Given the description of an element on the screen output the (x, y) to click on. 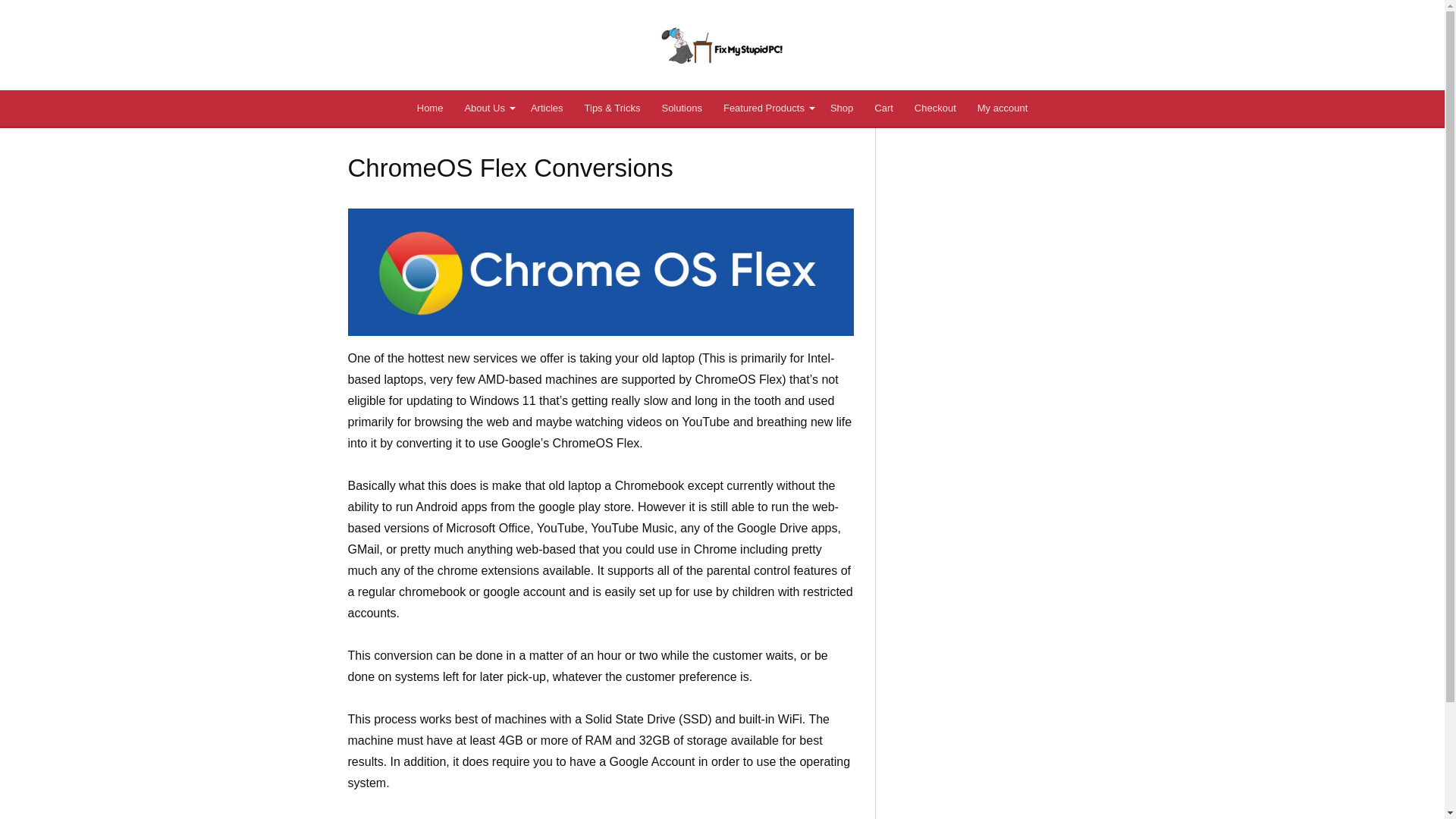
Shop (841, 108)
Featured Products (766, 108)
Checkout (935, 108)
Solutions (680, 108)
About Us (485, 108)
Cart (883, 108)
Home (430, 108)
My account (1002, 108)
Articles (546, 108)
